Given the description of an element on the screen output the (x, y) to click on. 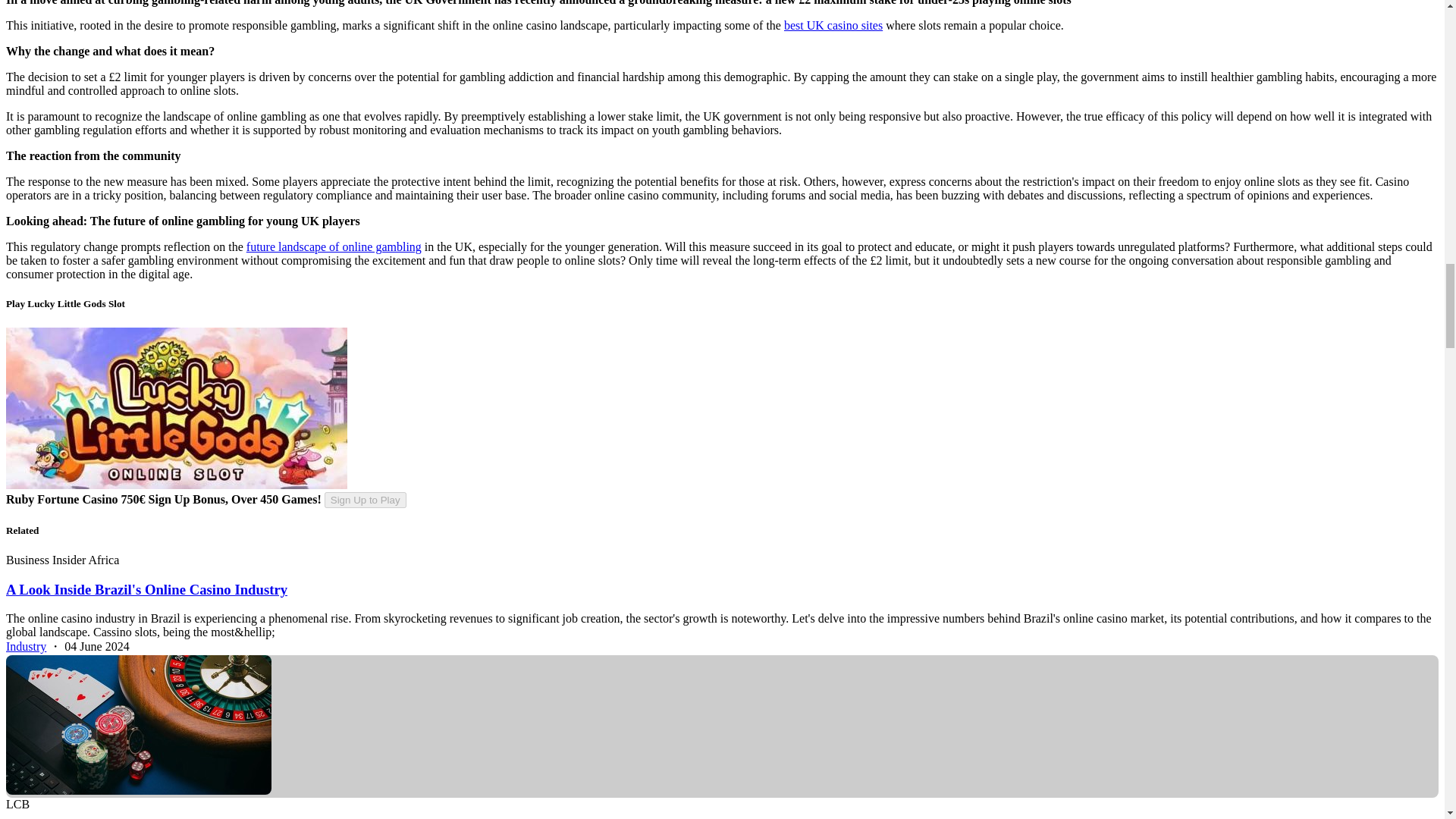
Recommended Slot Game To Play: Lucky Little Gods Slot (176, 407)
